Given the description of an element on the screen output the (x, y) to click on. 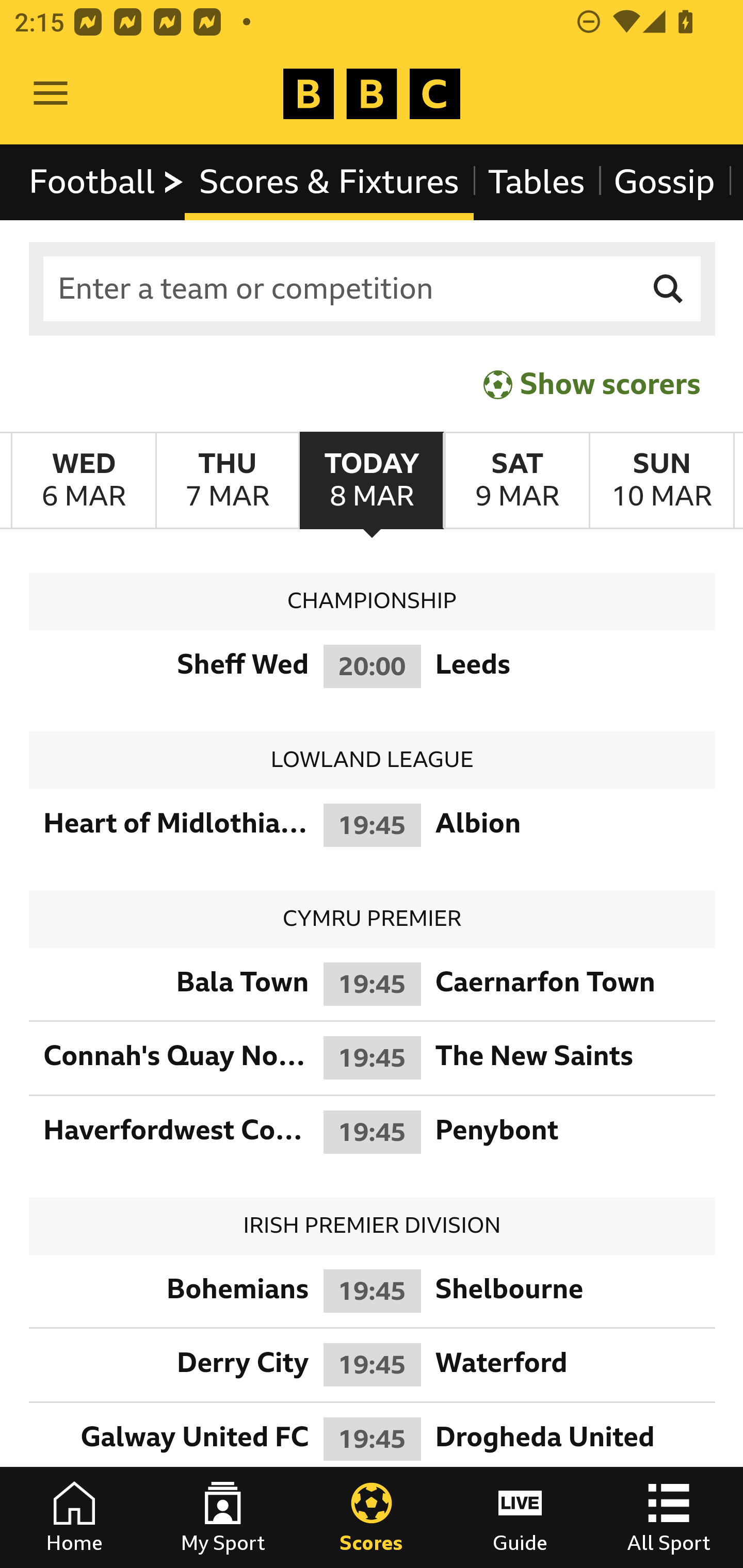
Open Menu (50, 93)
Football  (106, 181)
Scores & Fixtures (329, 181)
Tables (536, 181)
Gossip (664, 181)
Search (669, 289)
Show scorers (591, 383)
WednesdayMarch 6th Wednesday March 6th (83, 480)
ThursdayMarch 7th Thursday March 7th (227, 480)
SaturdayMarch 9th Saturday March 9th (516, 480)
SundayMarch 10th Sunday March 10th (661, 480)
Home (74, 1517)
My Sport (222, 1517)
Guide (519, 1517)
All Sport (668, 1517)
